Given the description of an element on the screen output the (x, y) to click on. 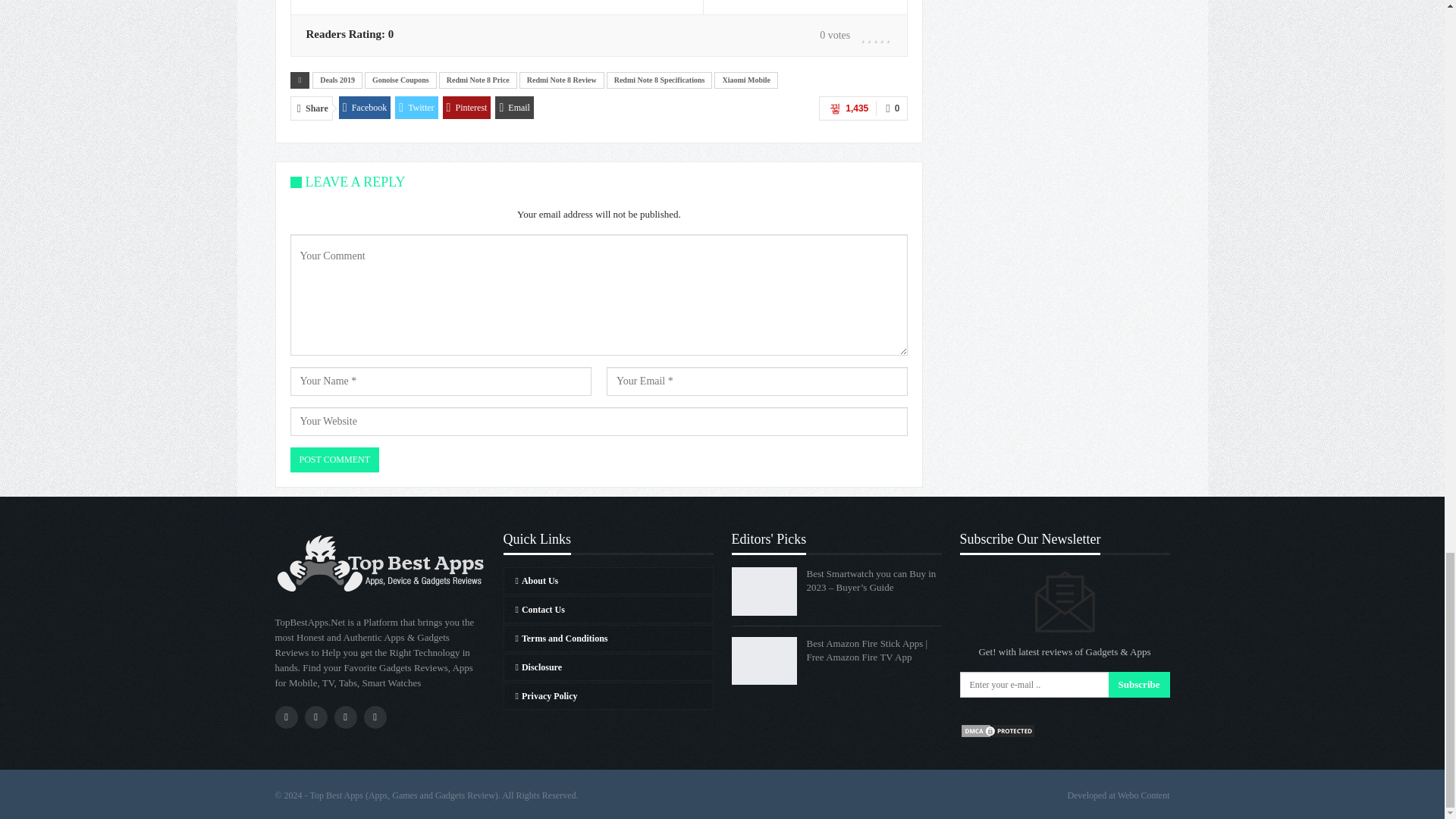
Pinterest (467, 107)
Twitter (416, 107)
Redmi Note 8 Price (477, 80)
Gonoise Coupons (400, 80)
Redmi Note 8 Review (561, 80)
Xiaomi Mobile (745, 80)
Facebook (365, 107)
Deals 2019 (337, 80)
Redmi Note 8 Specifications (660, 80)
Email (514, 107)
Post Comment (333, 459)
0 (891, 108)
